Given the description of an element on the screen output the (x, y) to click on. 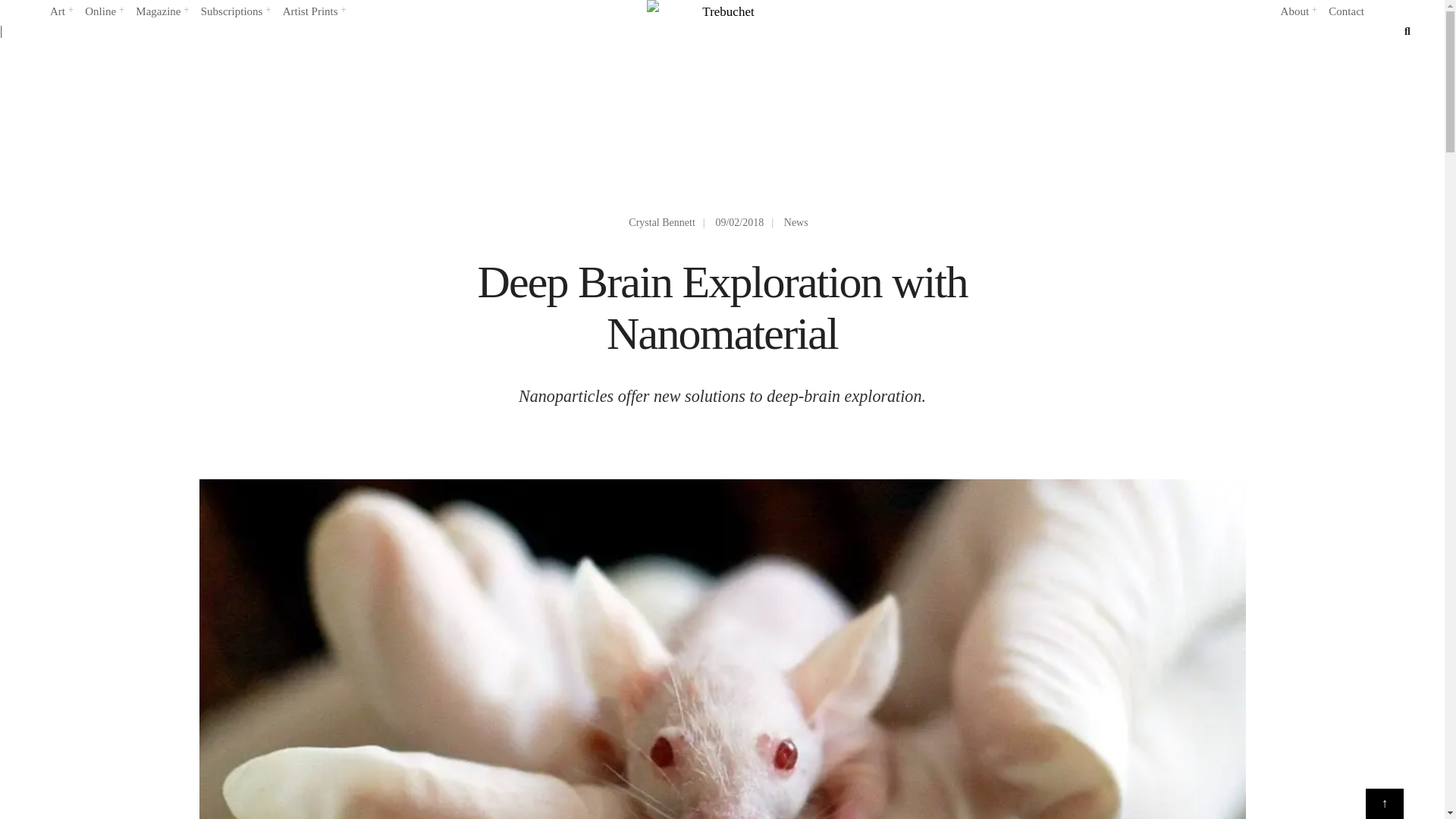
Art (61, 11)
Subscriptions (235, 11)
Magazine (161, 11)
Online (104, 11)
Posts by Crystal Bennett (661, 222)
Artist Prints (314, 11)
Art (61, 11)
